Given the description of an element on the screen output the (x, y) to click on. 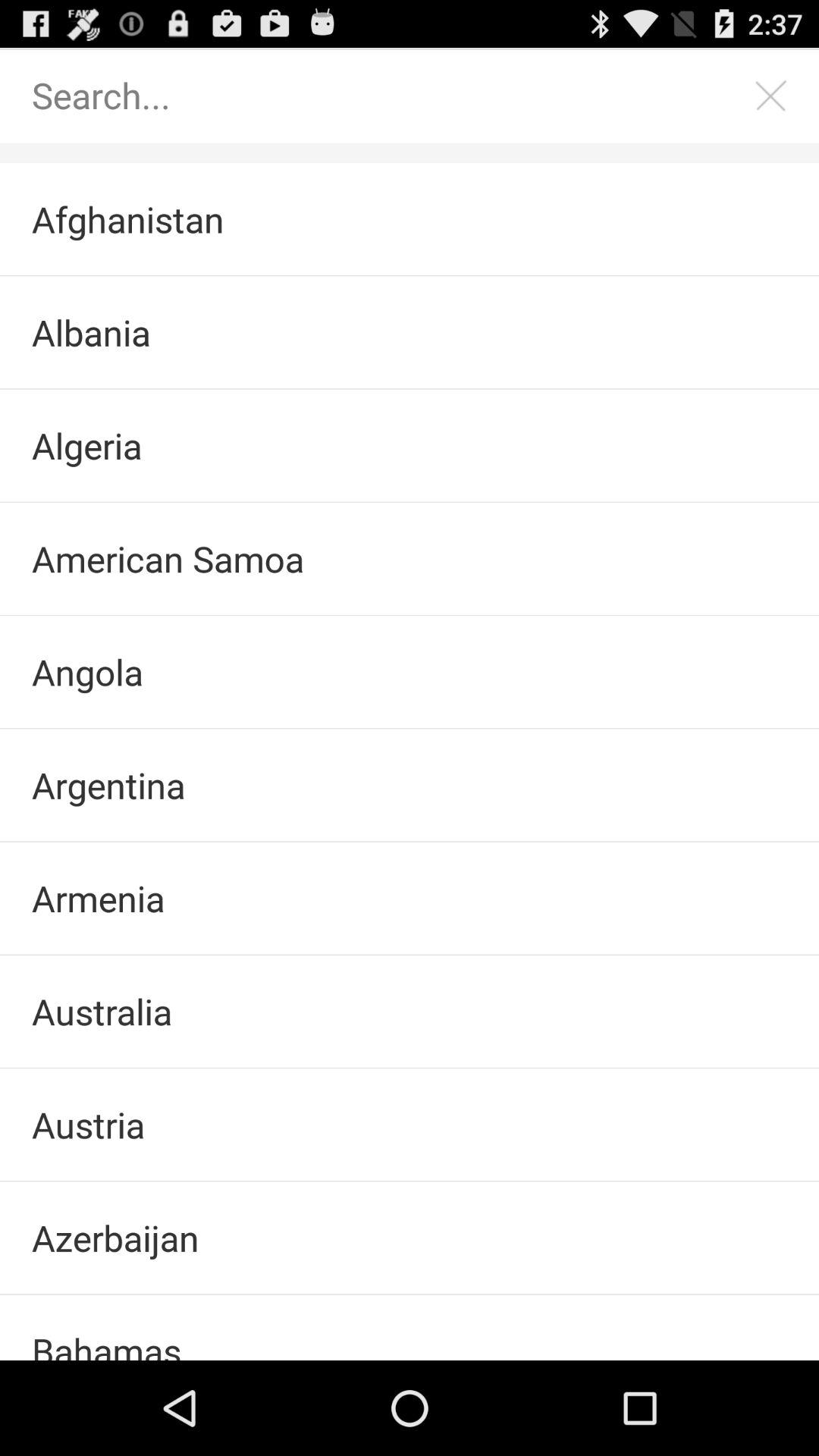
tap checkbox above the armenia (409, 785)
